Given the description of an element on the screen output the (x, y) to click on. 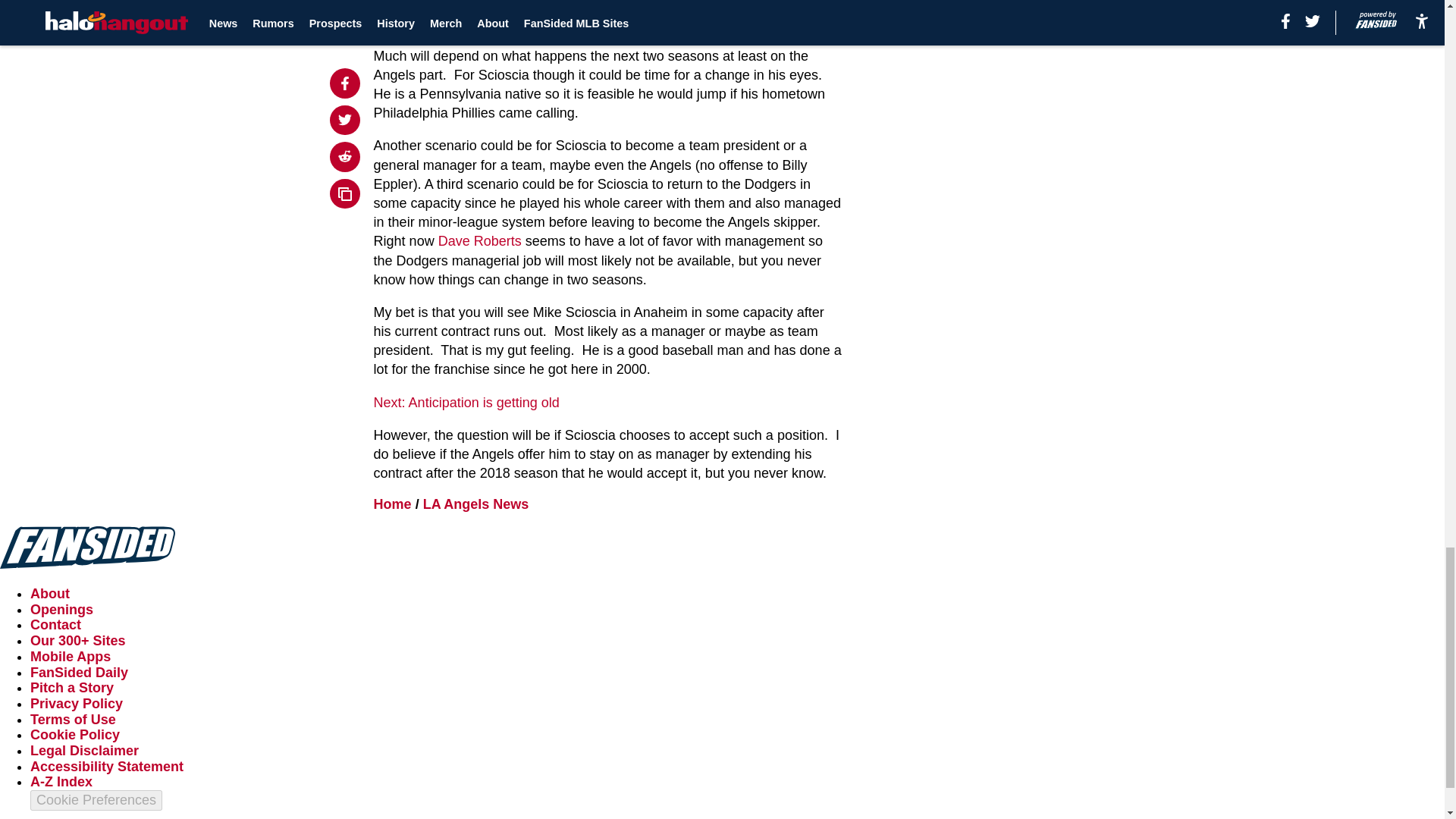
Dave Roberts (479, 240)
LA Angels News (476, 503)
Next: Anticipation is getting old (466, 402)
Write for us! (410, 22)
Home (393, 503)
